Given the description of an element on the screen output the (x, y) to click on. 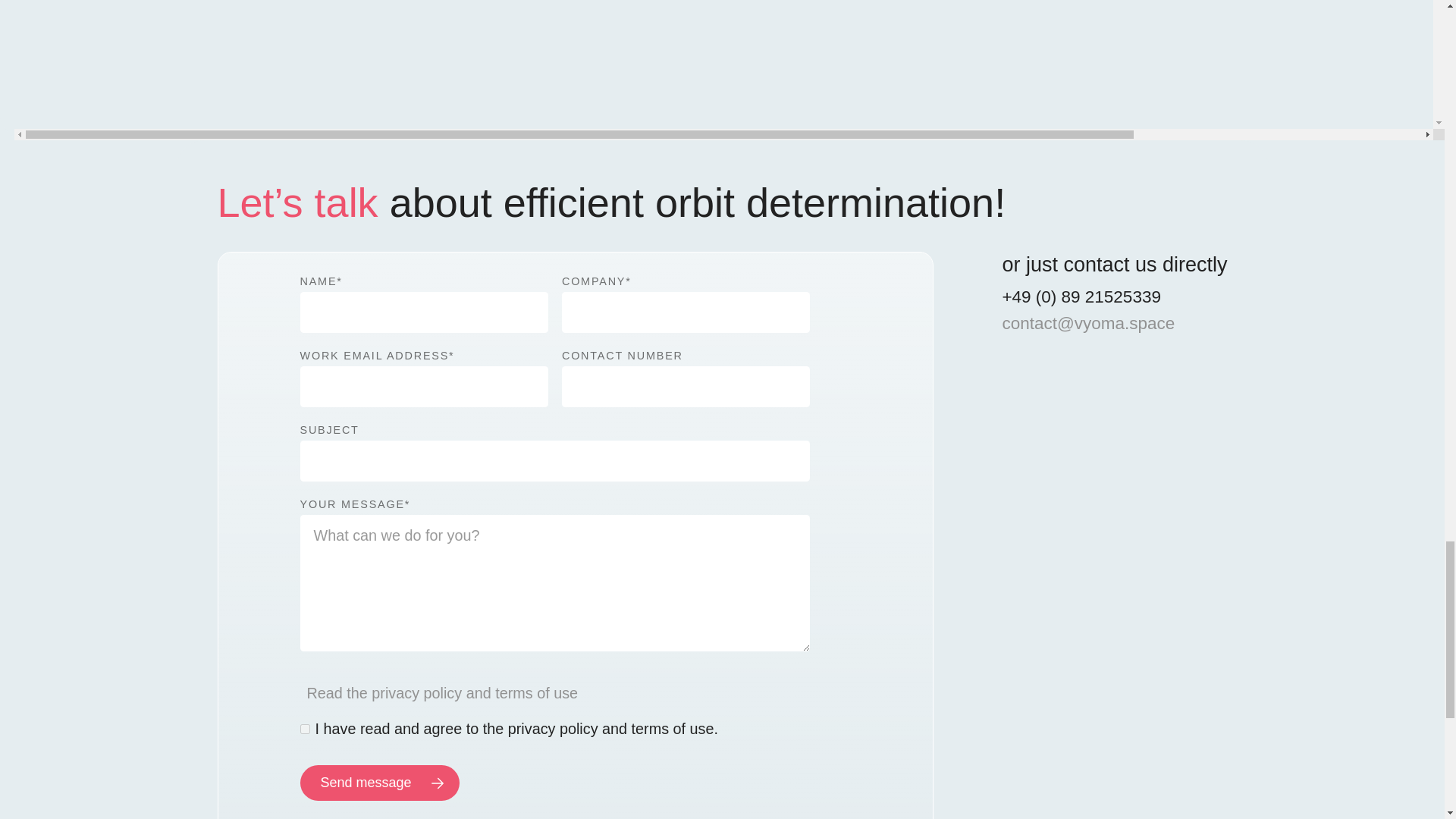
Send message (379, 782)
Read the privacy policy and terms of use (441, 692)
Send message (379, 782)
on (304, 728)
